Given the description of an element on the screen output the (x, y) to click on. 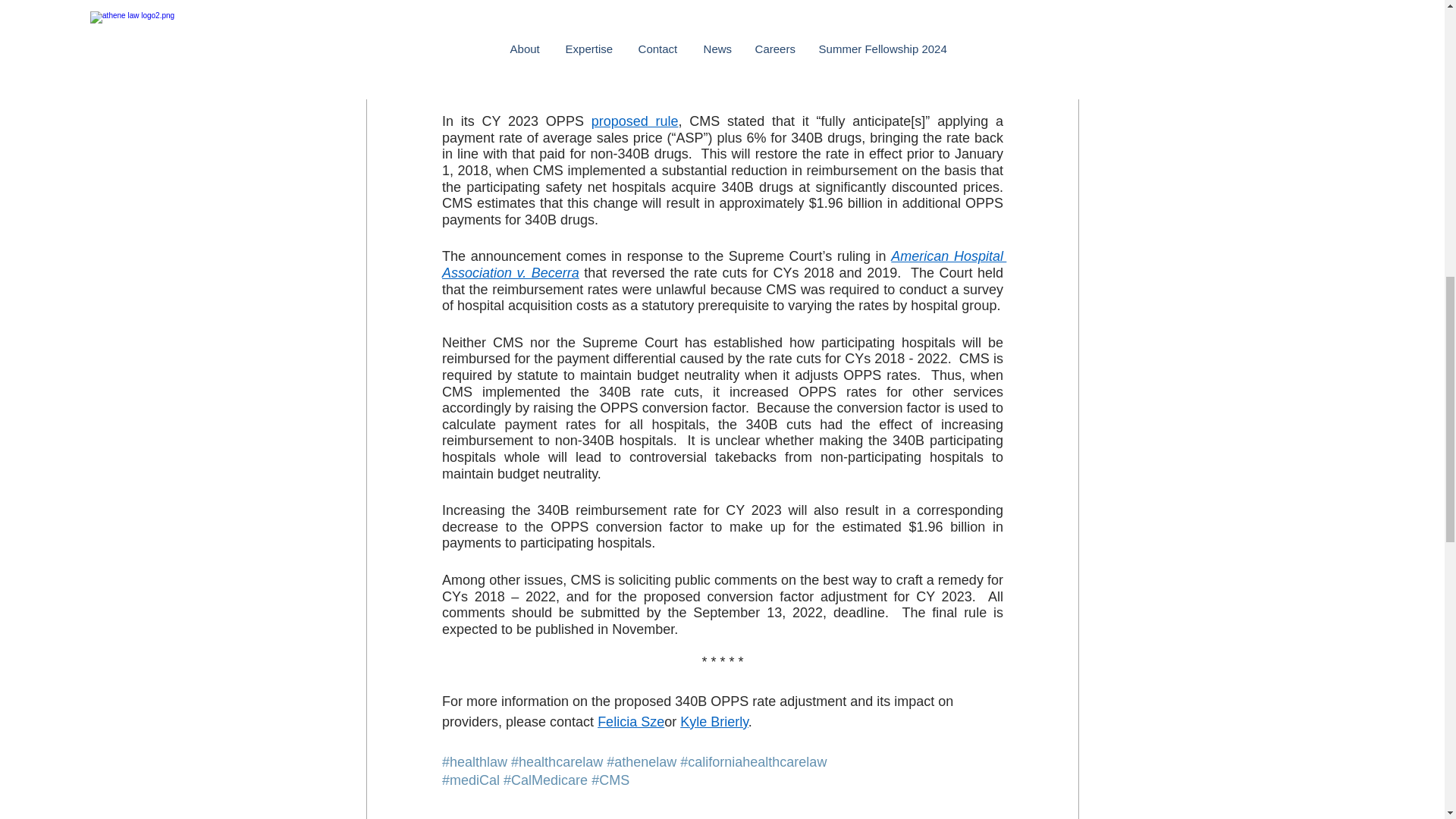
Kyle Brierly (713, 721)
Felicia Sze (629, 721)
proposed rule (634, 120)
Prescription refills by Nick Youngson CC BY-SA 3.0 Pix4free (722, 42)
American Hospital Association v. Becerra (723, 264)
